Given the description of an element on the screen output the (x, y) to click on. 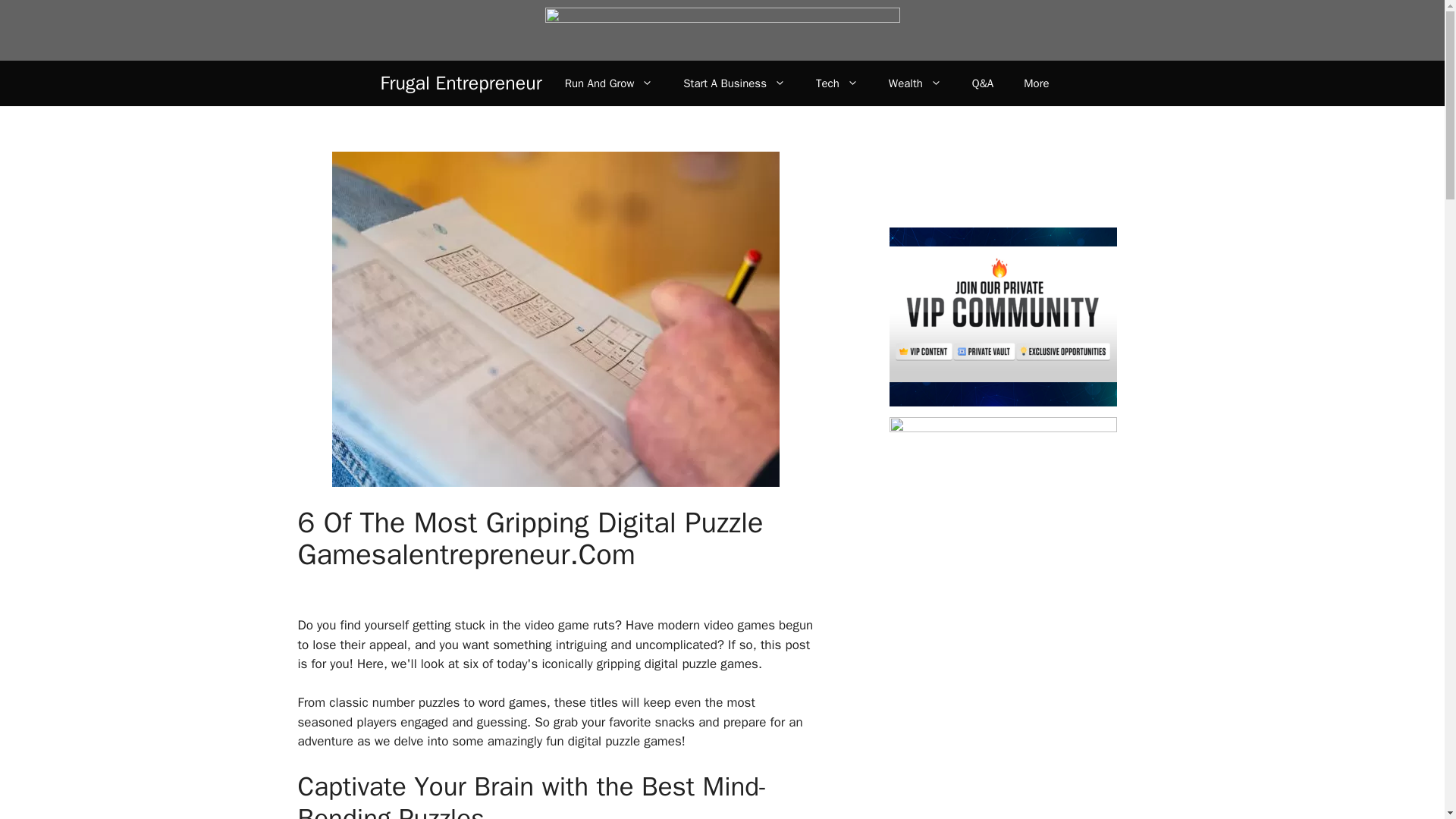
Frugal Entrepreneur (460, 83)
Start A Business (734, 83)
Tech (836, 83)
Run And Grow (609, 83)
